Given the description of an element on the screen output the (x, y) to click on. 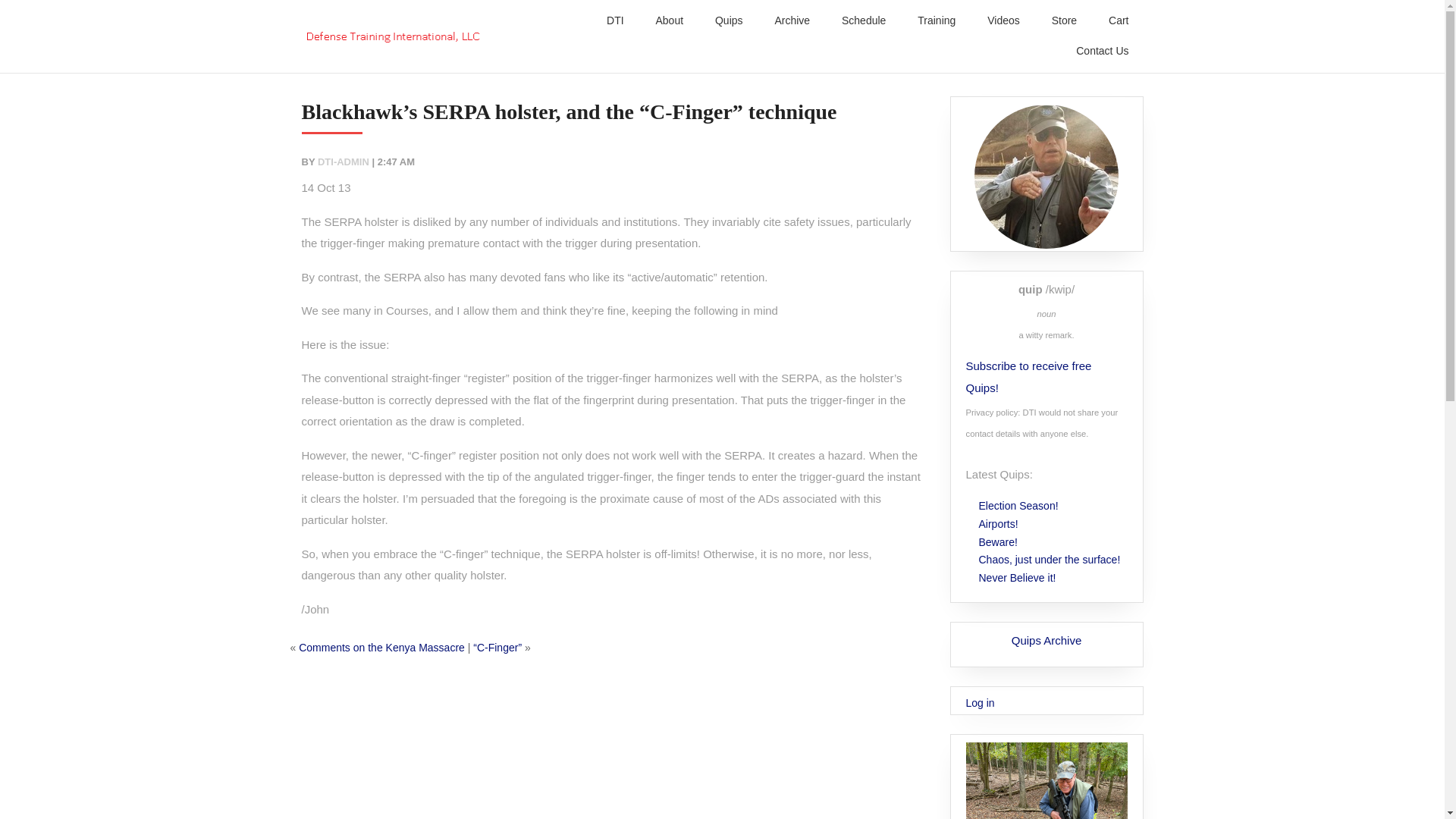
Never Believe it! (1017, 577)
Videos (1003, 20)
Training (936, 20)
DTI (615, 20)
Election Season! (1018, 505)
Contact Us (1101, 51)
About (669, 20)
Subscribe to receive free Quips! (1026, 376)
Chaos, just under the surface! (1049, 559)
Airports! (998, 523)
Posts by admin (343, 161)
Cart (1117, 20)
Comments on the Kenya Massacre (381, 647)
Store (1064, 20)
